Given the description of an element on the screen output the (x, y) to click on. 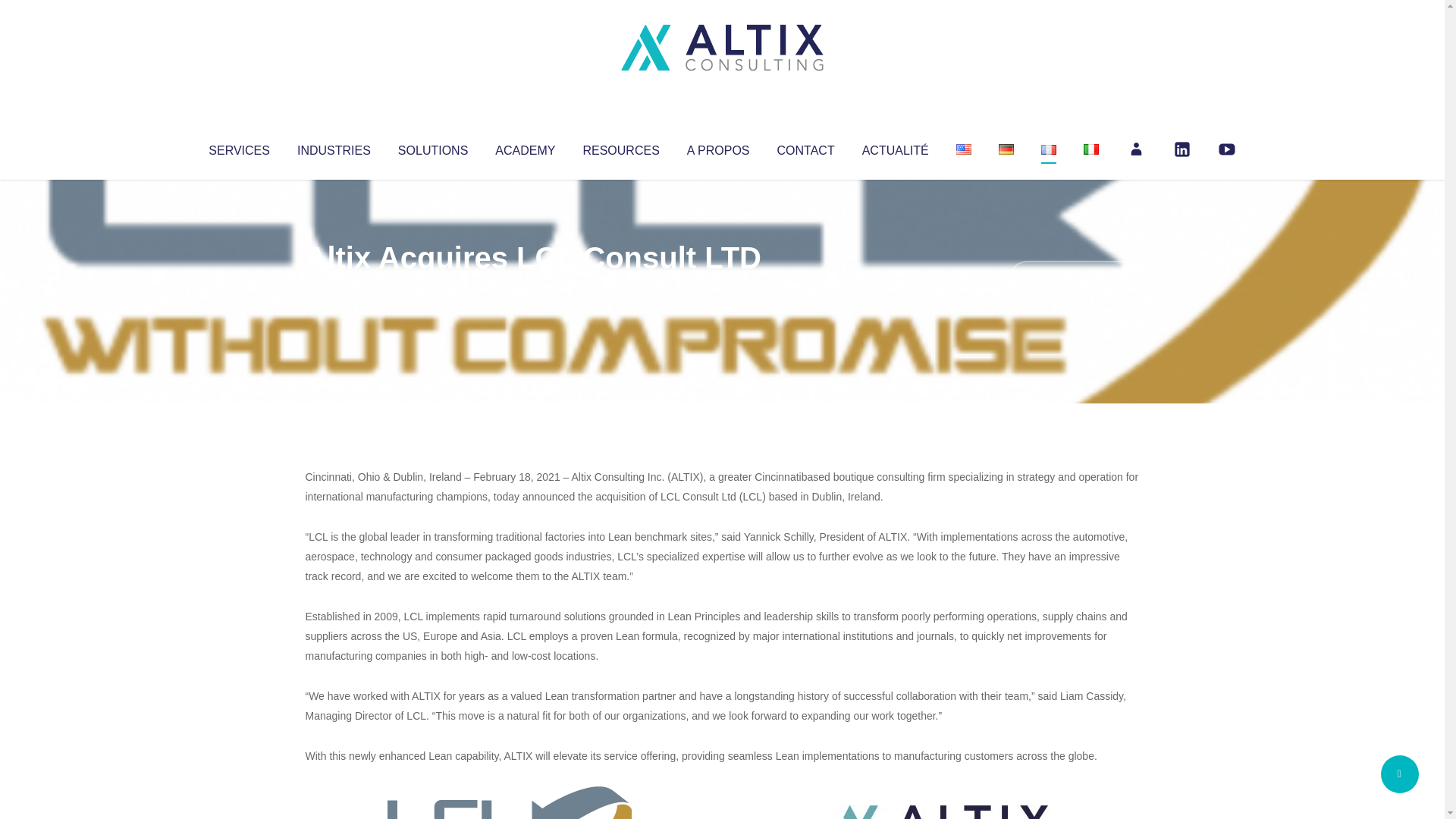
ACADEMY (524, 146)
SOLUTIONS (432, 146)
RESOURCES (620, 146)
No Comments (1073, 278)
A PROPOS (718, 146)
Altix (333, 287)
Articles par Altix (333, 287)
INDUSTRIES (334, 146)
Uncategorized (530, 287)
SERVICES (238, 146)
